Given the description of an element on the screen output the (x, y) to click on. 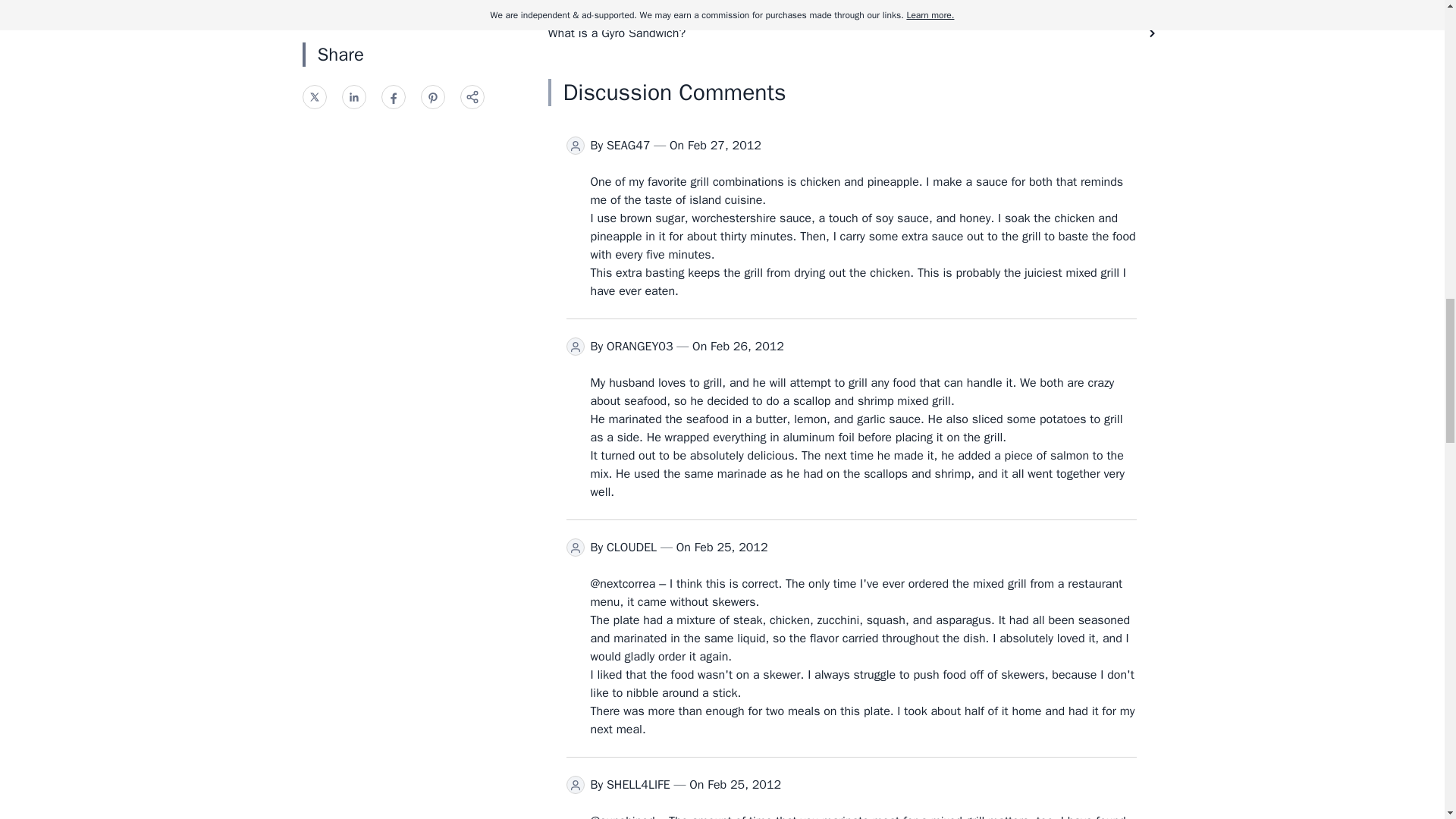
What is a Grill Grid? (850, 5)
What is a Gyro Sandwich? (850, 33)
